Given the description of an element on the screen output the (x, y) to click on. 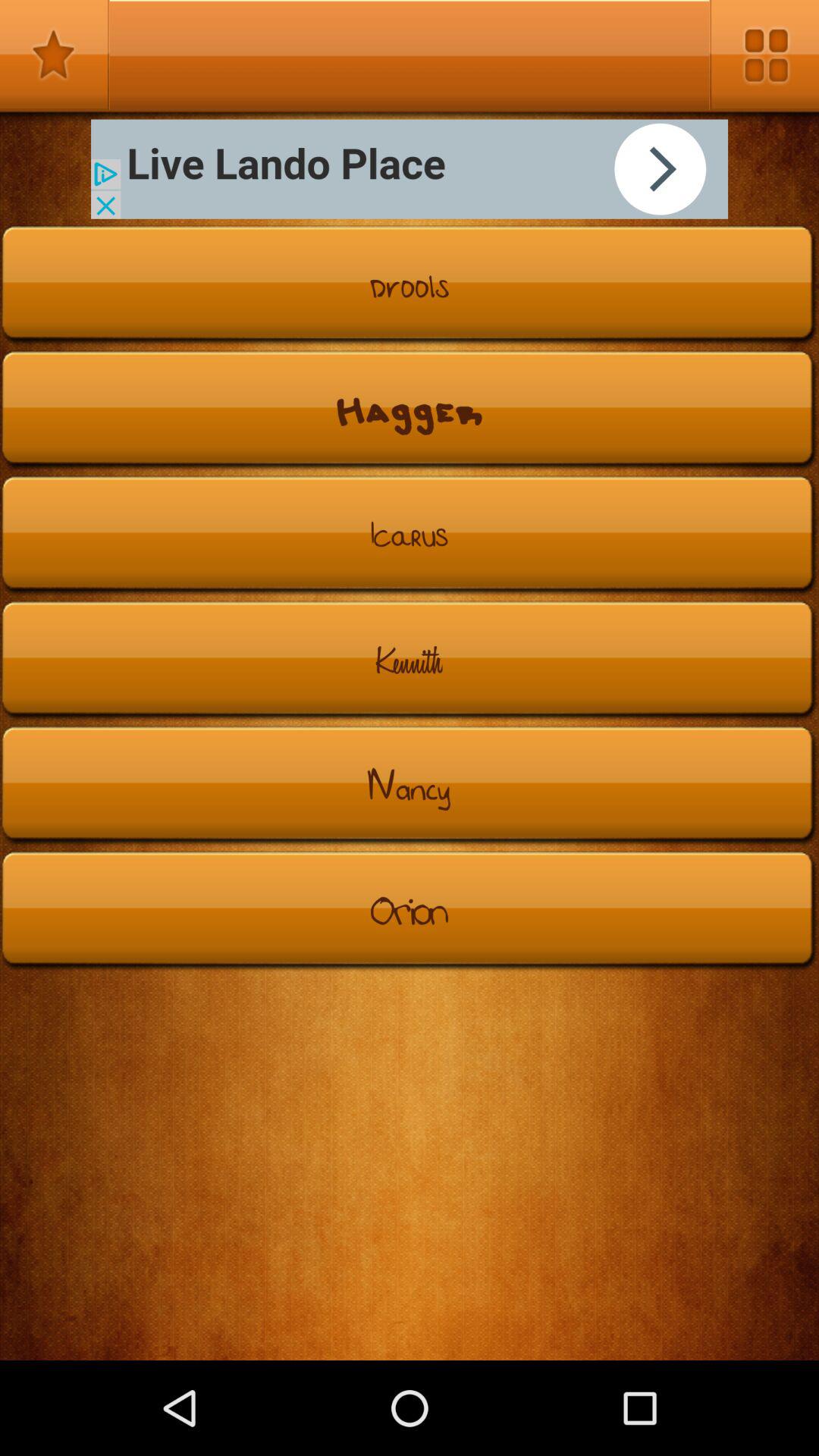
view live lando place (409, 168)
